Given the description of an element on the screen output the (x, y) to click on. 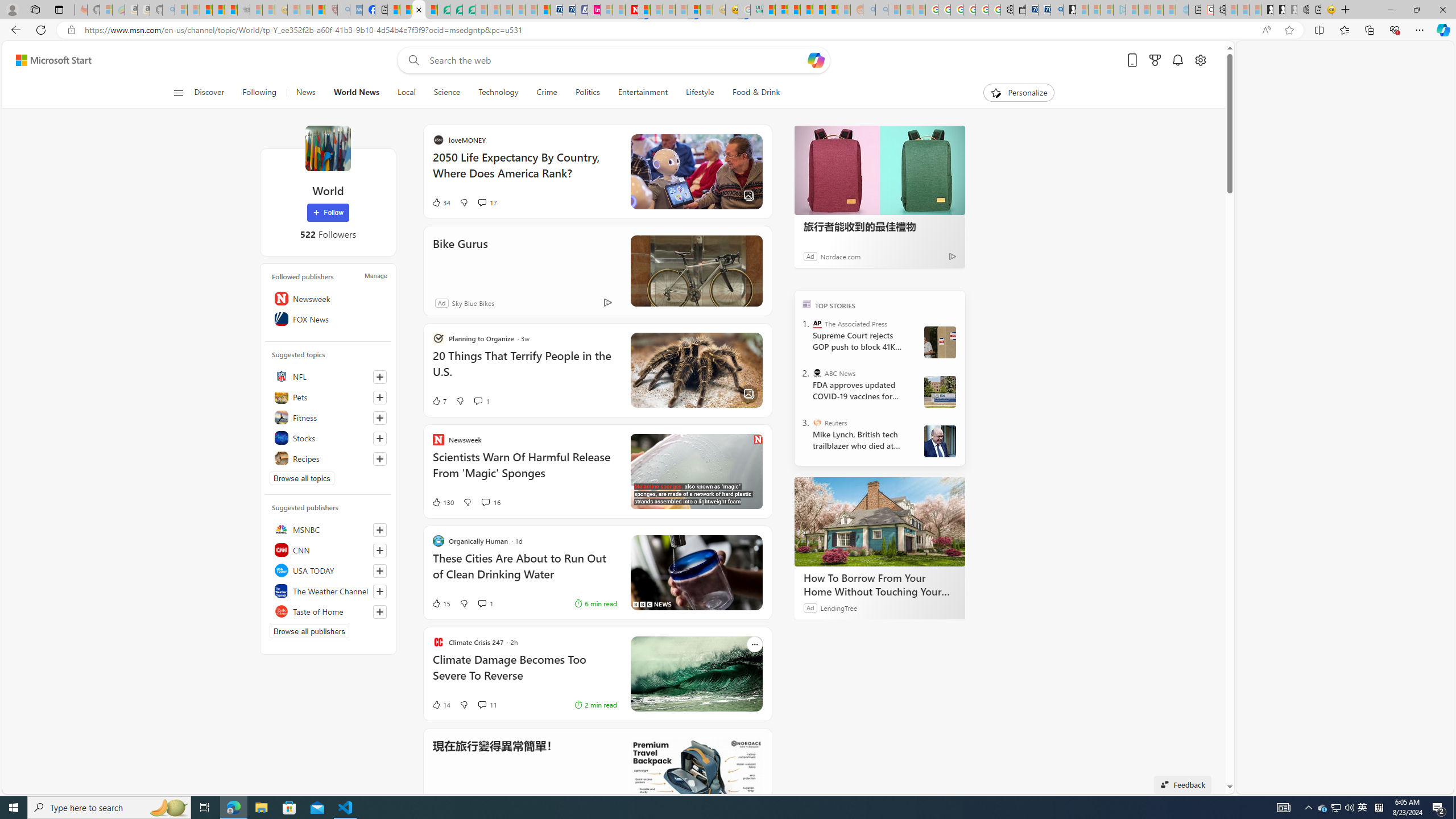
20 Things That Terrify People in the U.S. (633, 369)
Nordace.com (839, 256)
Kinda Frugal - MSN (818, 9)
